Given the description of an element on the screen output the (x, y) to click on. 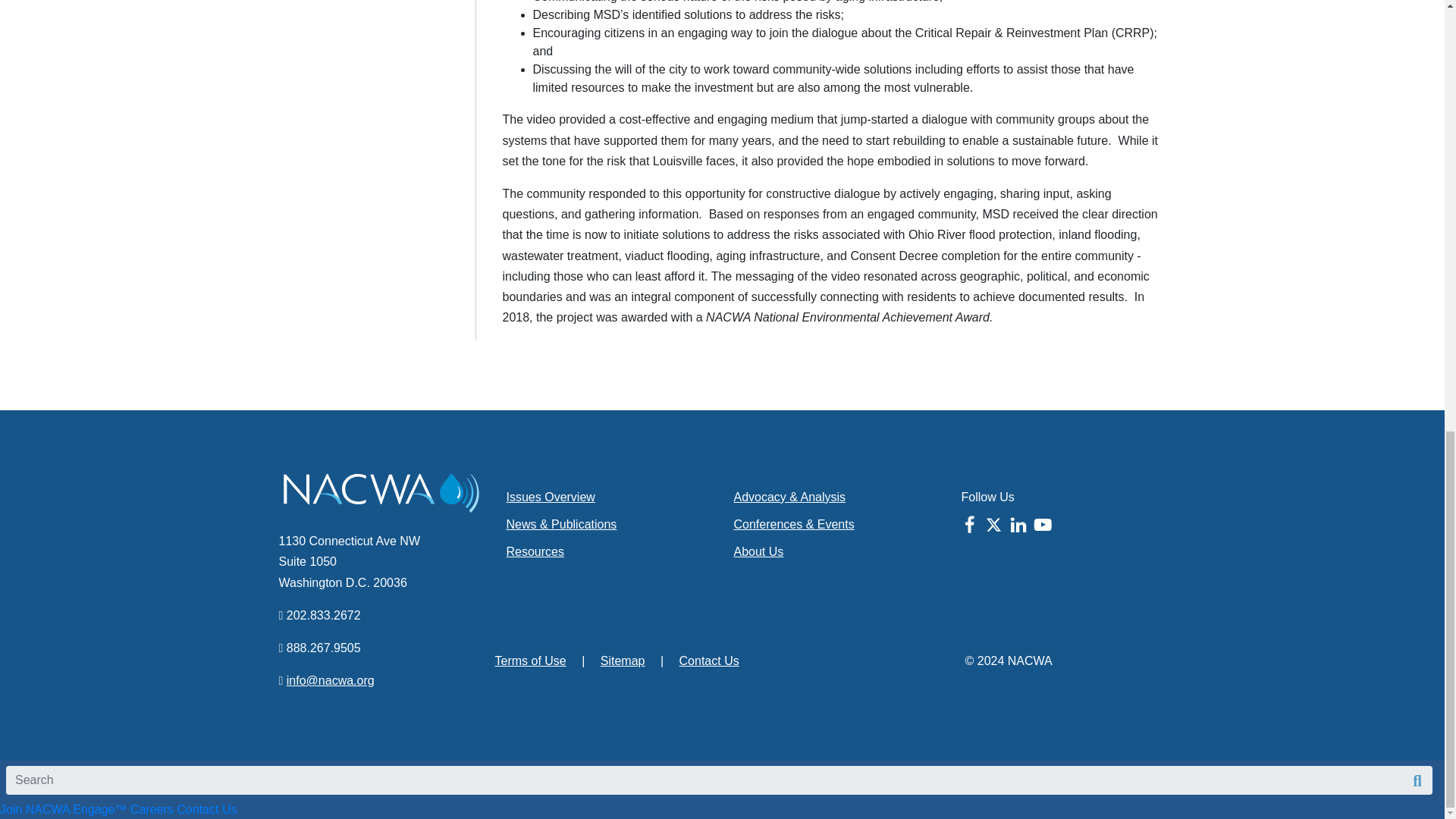
nacwa-logo-white-f (381, 493)
Search input (718, 779)
